Given the description of an element on the screen output the (x, y) to click on. 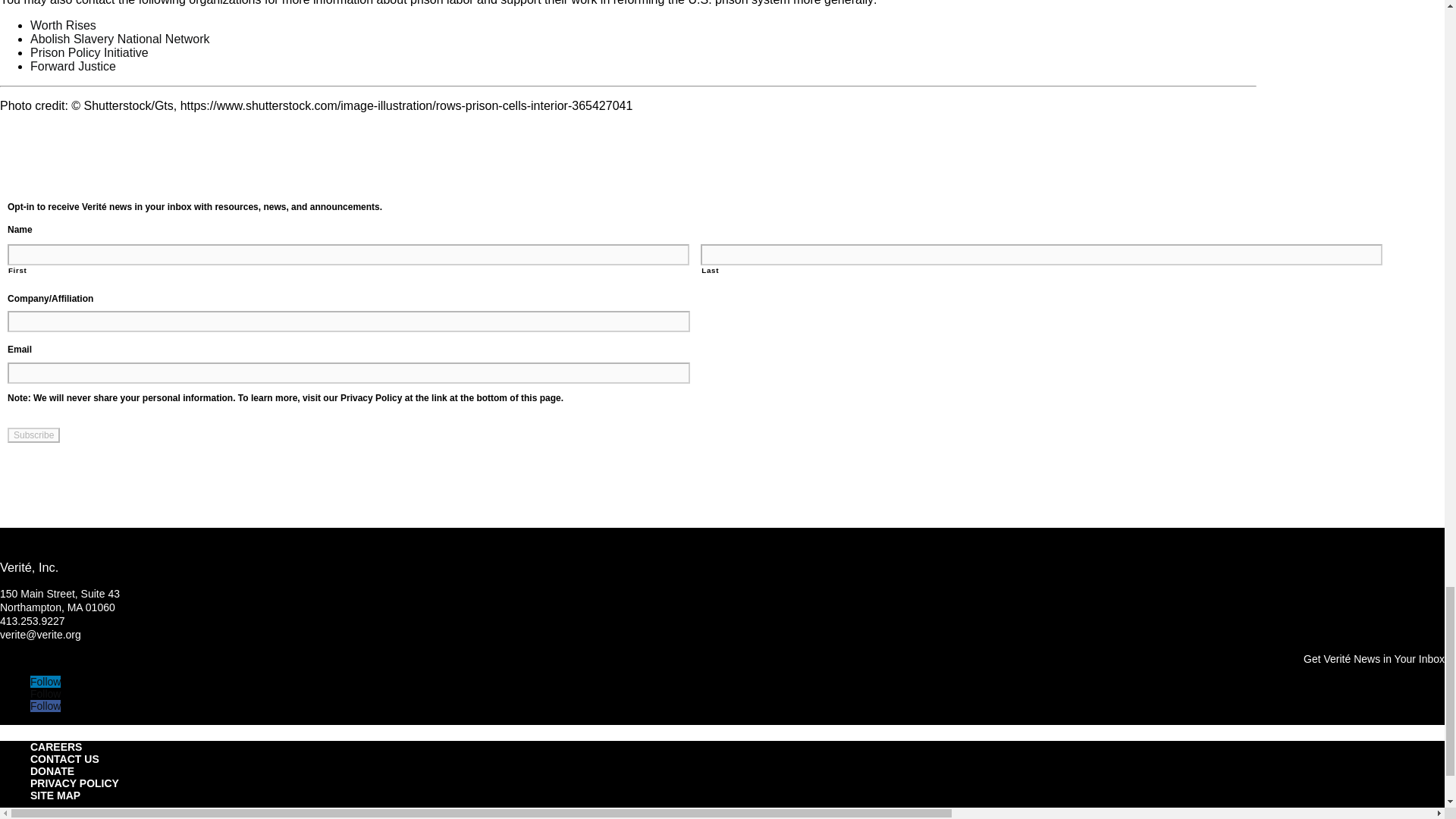
Follow on X (45, 693)
Subscribe (33, 435)
Follow on Facebook (45, 705)
Follow on LinkedIn (45, 681)
